Given the description of an element on the screen output the (x, y) to click on. 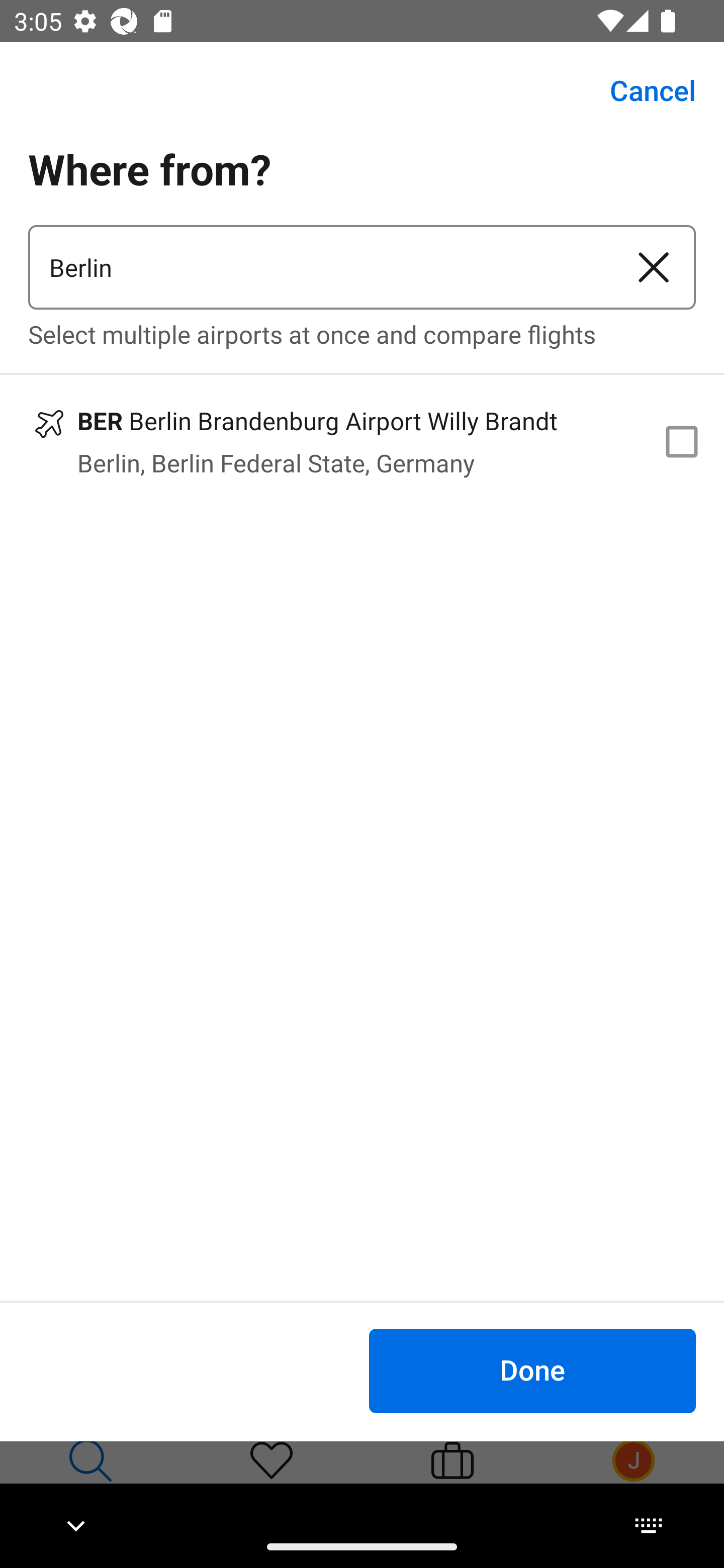
Cancel (641, 90)
Berlin (319, 266)
Clear airport or city (653, 266)
Done (532, 1370)
